Given the description of an element on the screen output the (x, y) to click on. 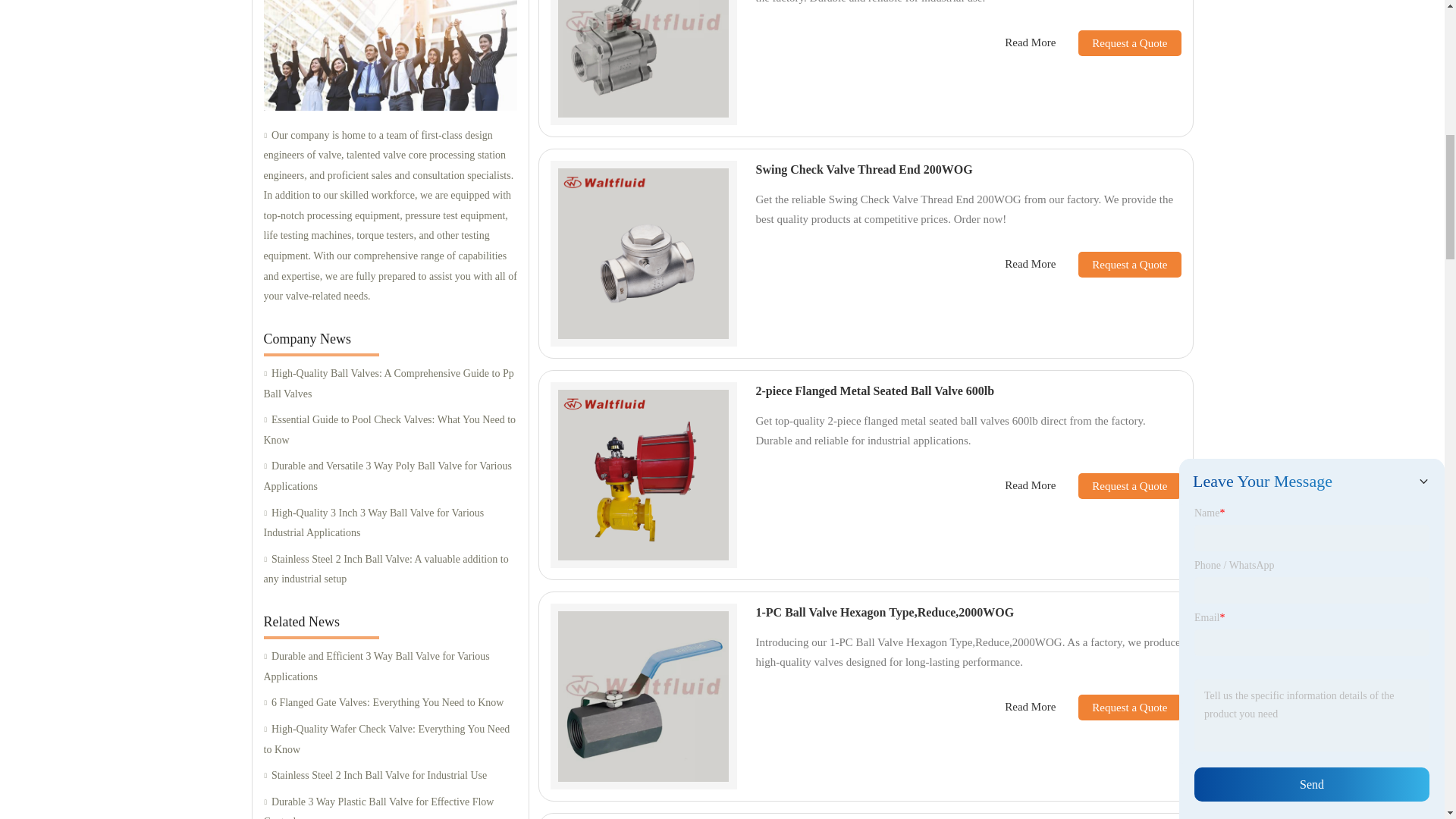
Request a Quote (1117, 43)
Read More (1029, 42)
Swing Check Valve Thread End 200WOG (863, 169)
Read More (1029, 263)
Read More (1029, 485)
Durable 3 Way Plastic Ball Valve for Effective Flow Control (389, 805)
High-Quality Wafer Check Valve: Everything You Need to Know (389, 739)
Stainless Steel 2 Inch Ball Valve for Industrial Use (389, 775)
6 Flanged Gate Valves: Everything You Need to Know (389, 702)
Essential Guide to Pool Check Valves: What You Need to Know (389, 430)
